Given the description of an element on the screen output the (x, y) to click on. 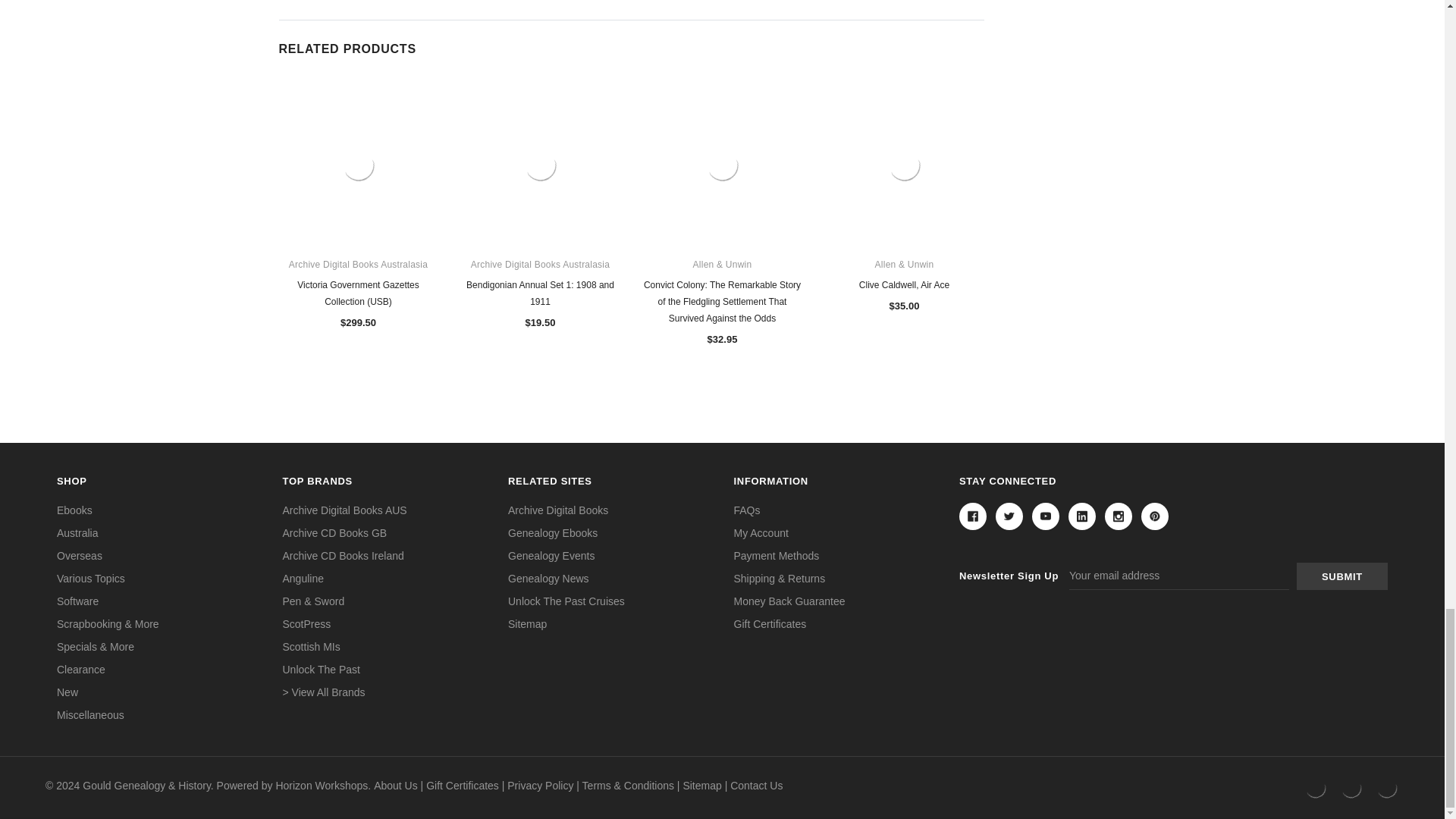
Submit (1342, 575)
